Given the description of an element on the screen output the (x, y) to click on. 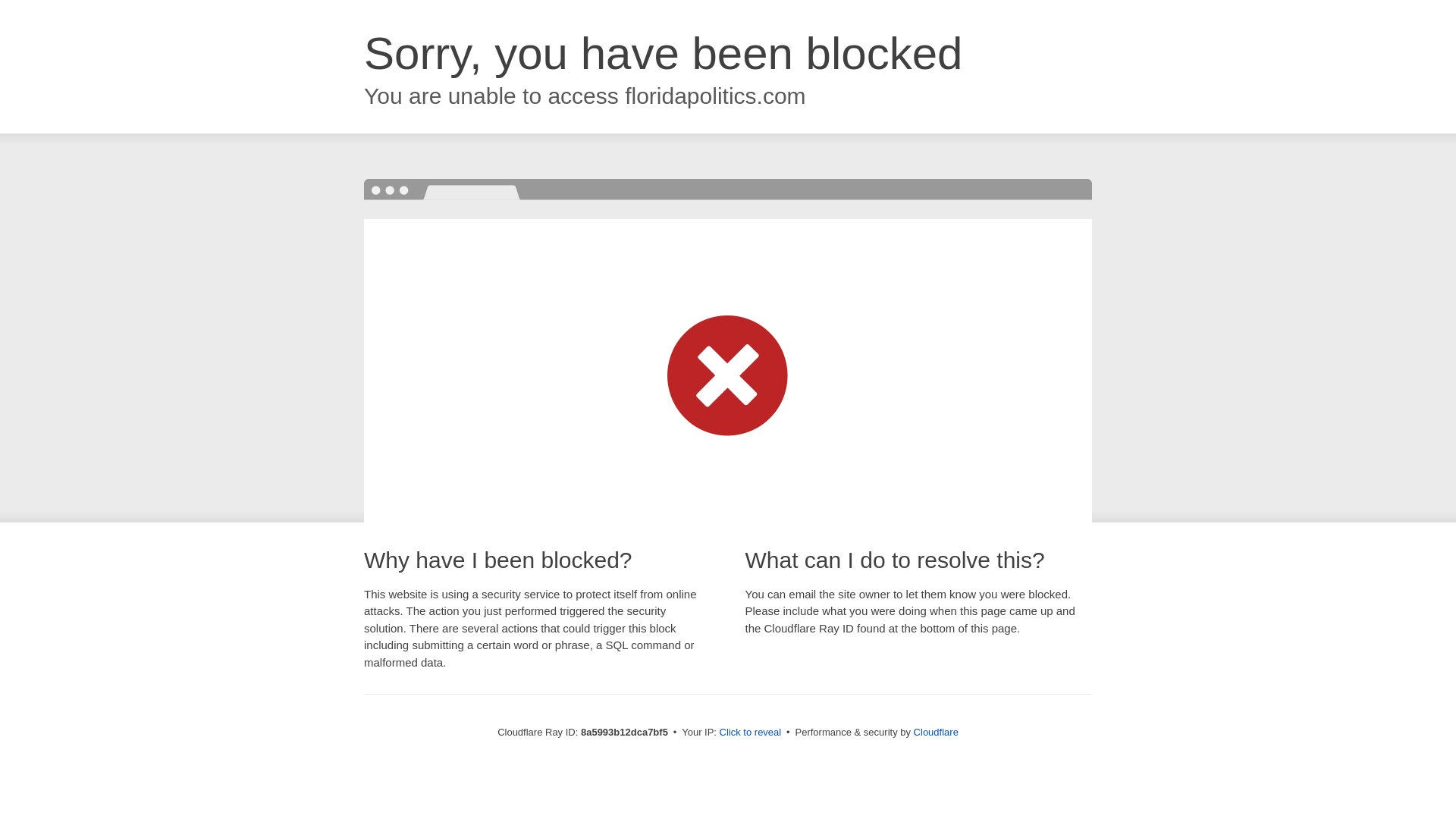
Cloudflare (936, 731)
Click to reveal (750, 732)
